Given the description of an element on the screen output the (x, y) to click on. 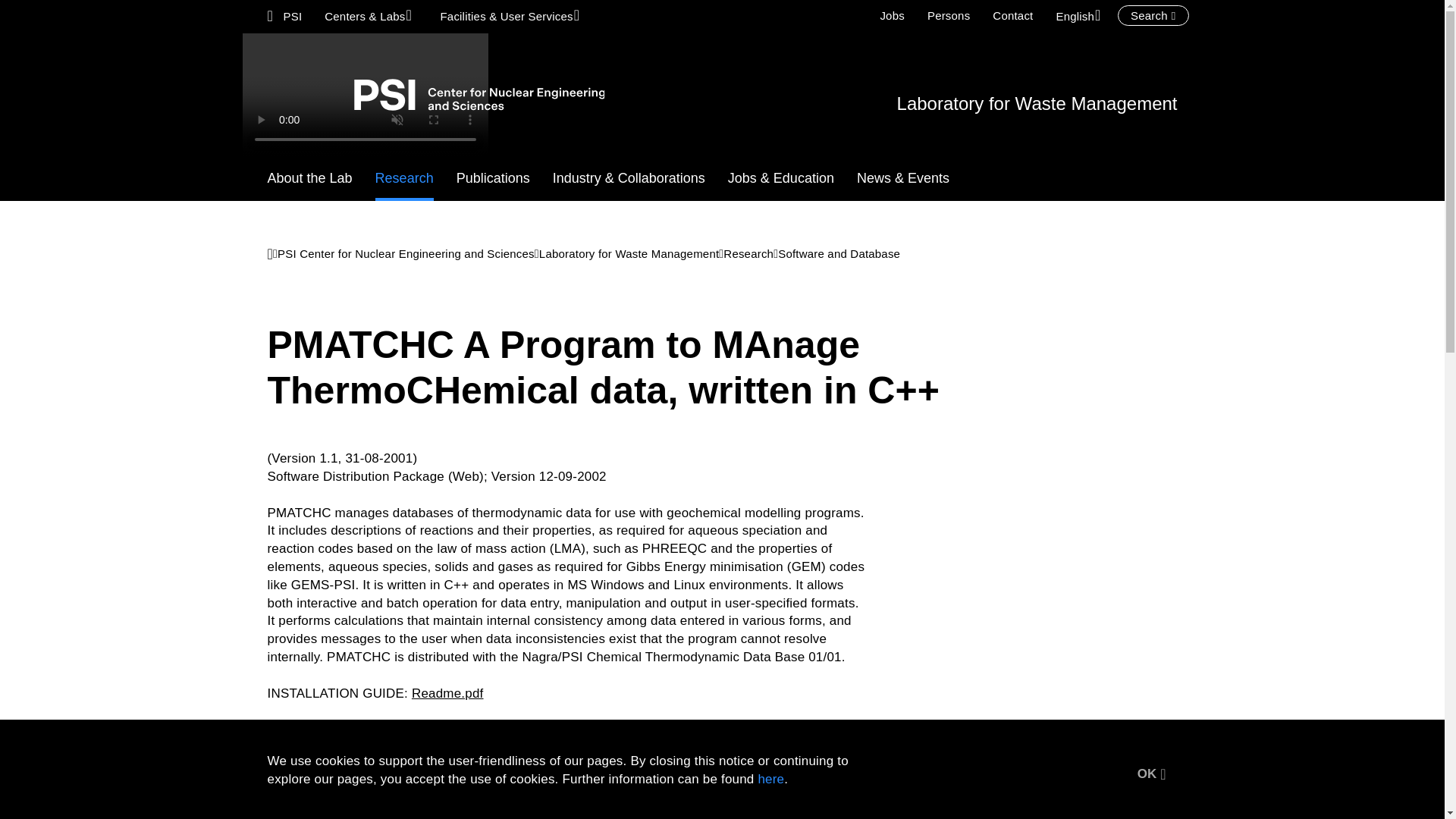
AN-44-01-23.pdf (769, 728)
Readme.pdf (447, 693)
TM-44-01-07.pdf (641, 728)
Change website language (1080, 15)
Problems.pdf (440, 765)
PSI (285, 15)
